Given the description of an element on the screen output the (x, y) to click on. 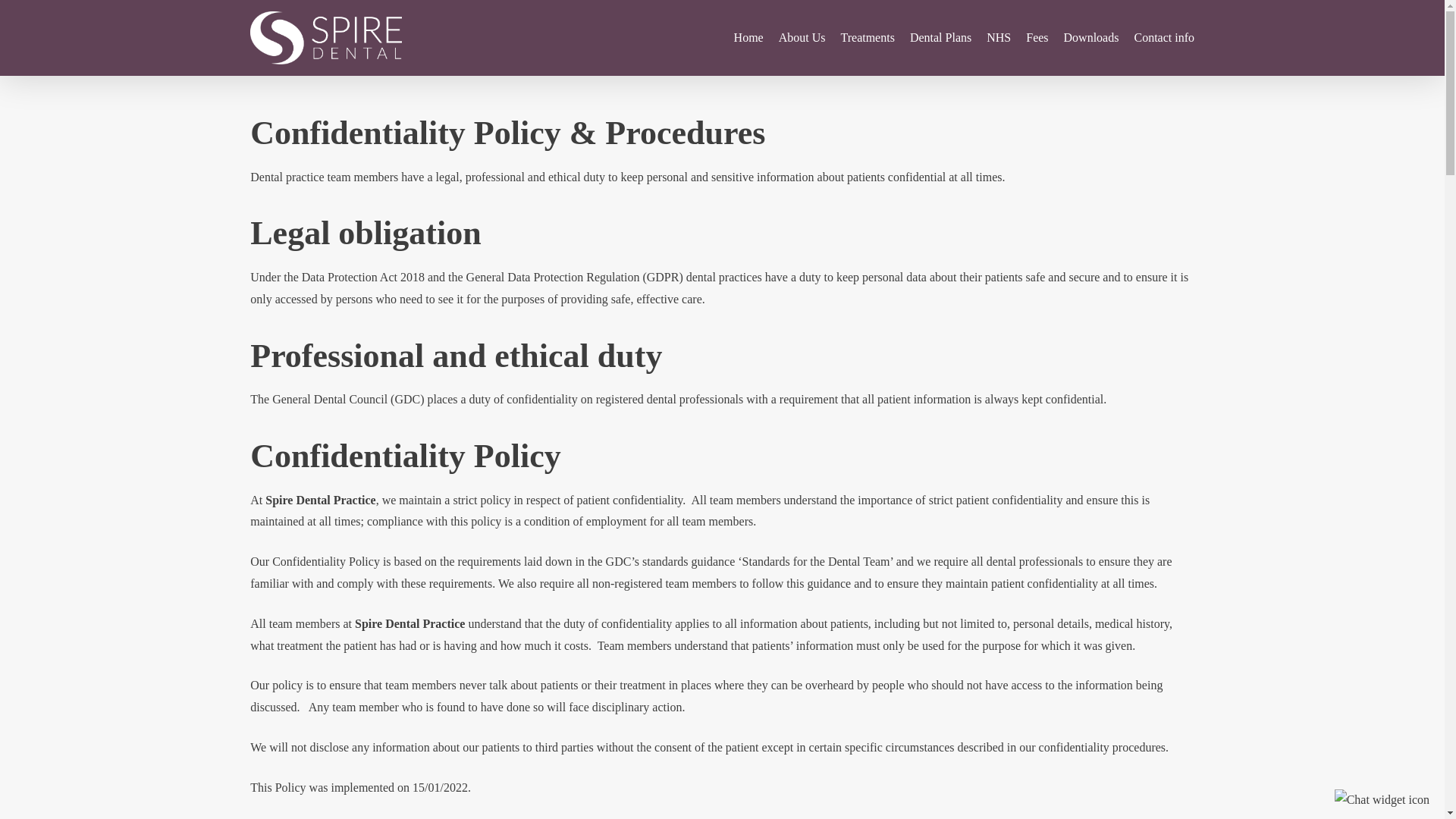
Treatments (866, 38)
Home (747, 38)
Dental Plans (940, 38)
About Us (801, 38)
